Given the description of an element on the screen output the (x, y) to click on. 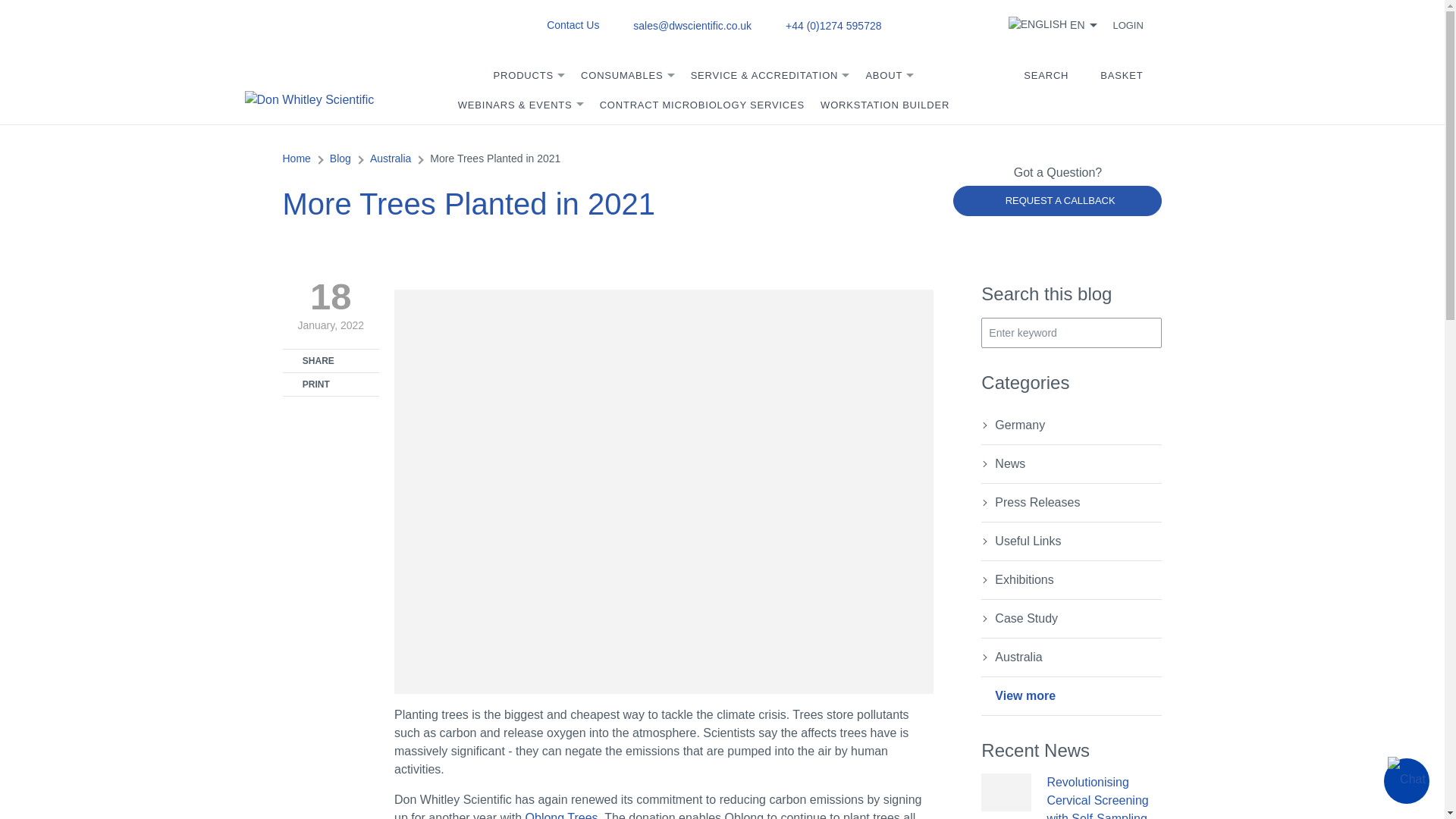
Contact Us (572, 24)
PRODUCTS (528, 81)
EN (1053, 24)
SEARCH (1054, 80)
LOGIN (1136, 25)
BASKET (1131, 80)
